Given the description of an element on the screen output the (x, y) to click on. 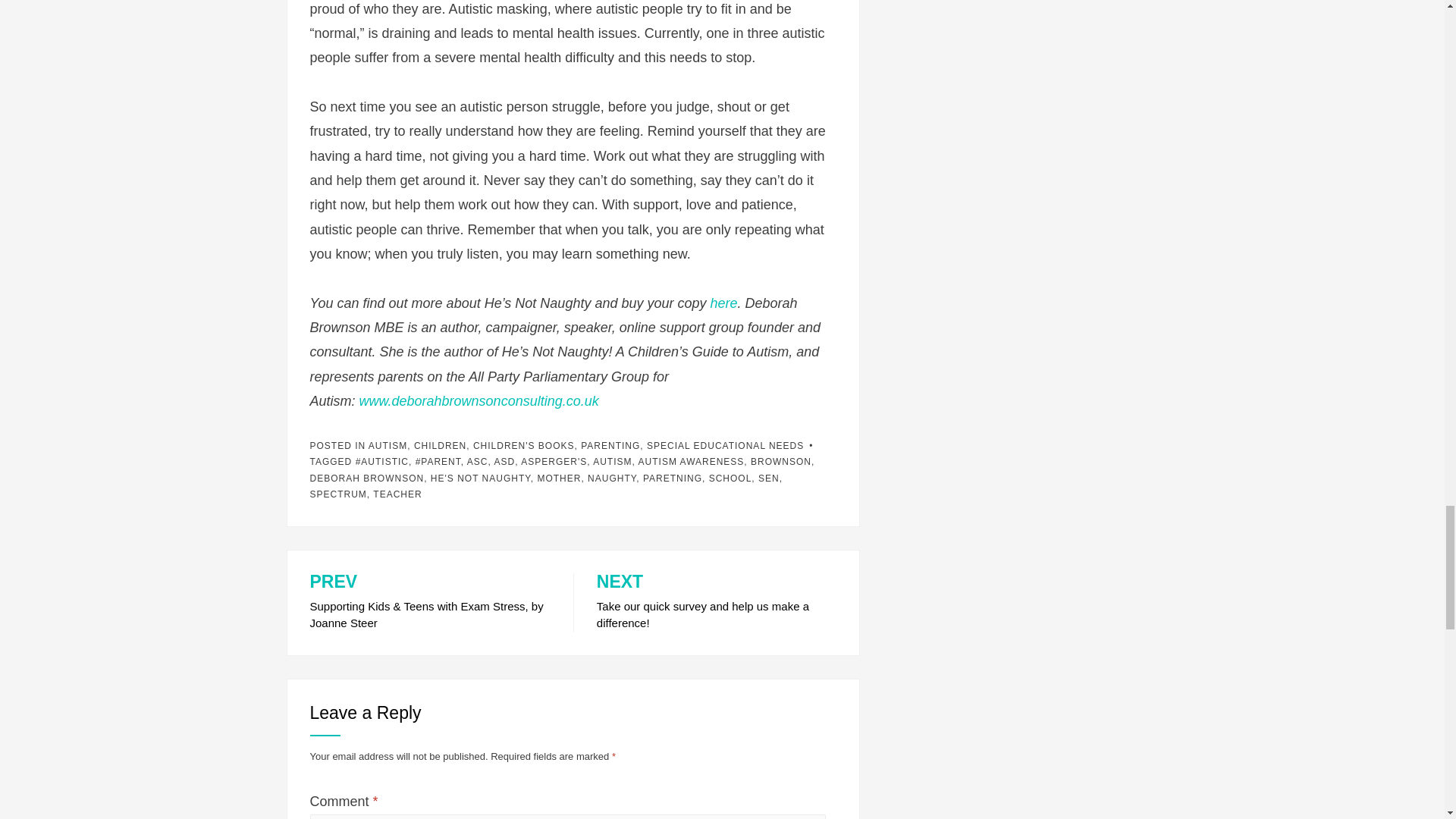
CHILDREN (439, 445)
PARENTING (610, 445)
www.deborahbrownsonconsulting.co.uk (478, 400)
CHILDREN'S BOOKS (524, 445)
AUTISM (387, 445)
here (723, 303)
SPECIAL EDUCATIONAL NEEDS (724, 445)
